Given the description of an element on the screen output the (x, y) to click on. 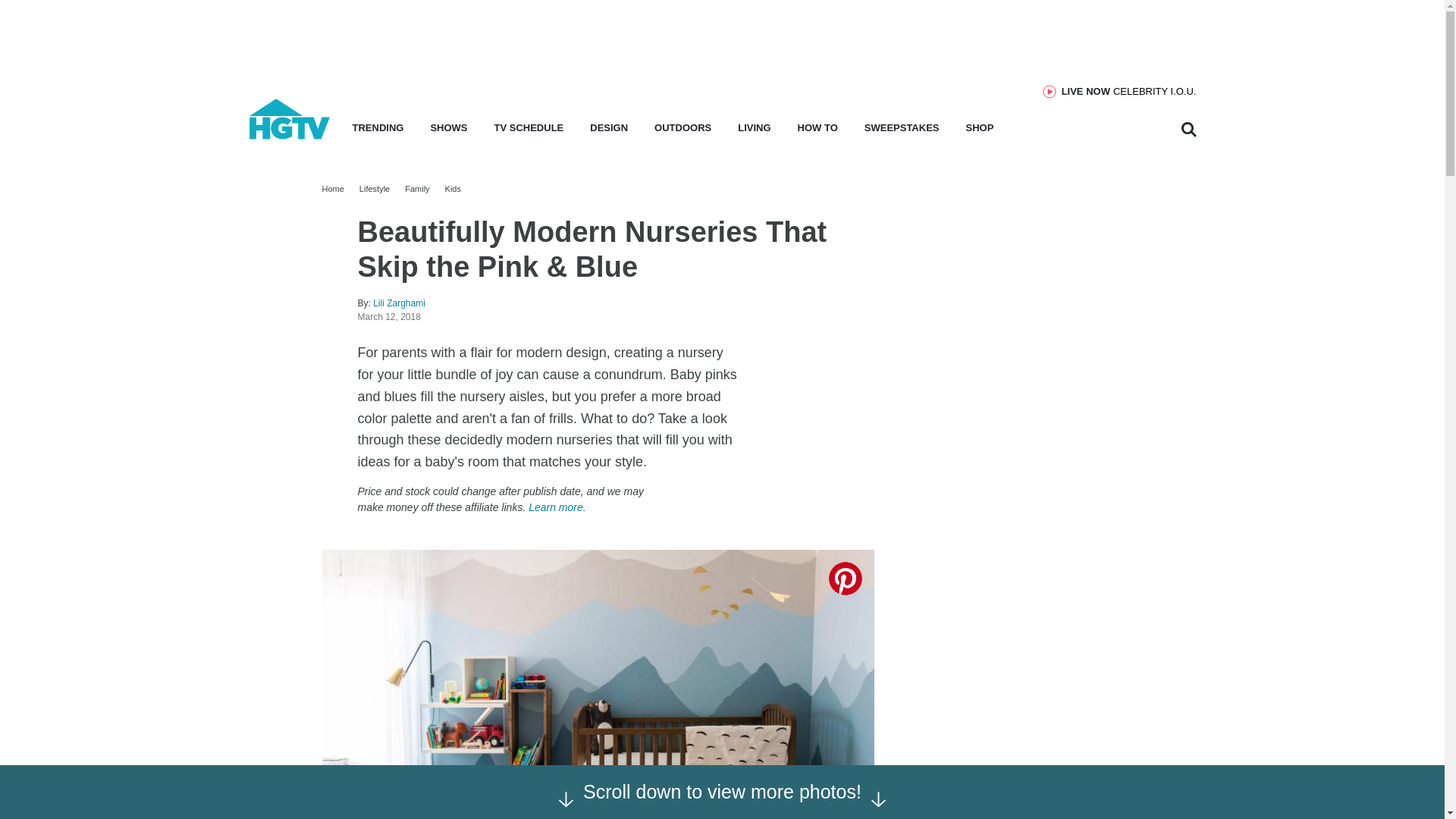
3rd party ad content (721, 33)
3rd party ad content (1128, 91)
home (1028, 383)
